Given the description of an element on the screen output the (x, y) to click on. 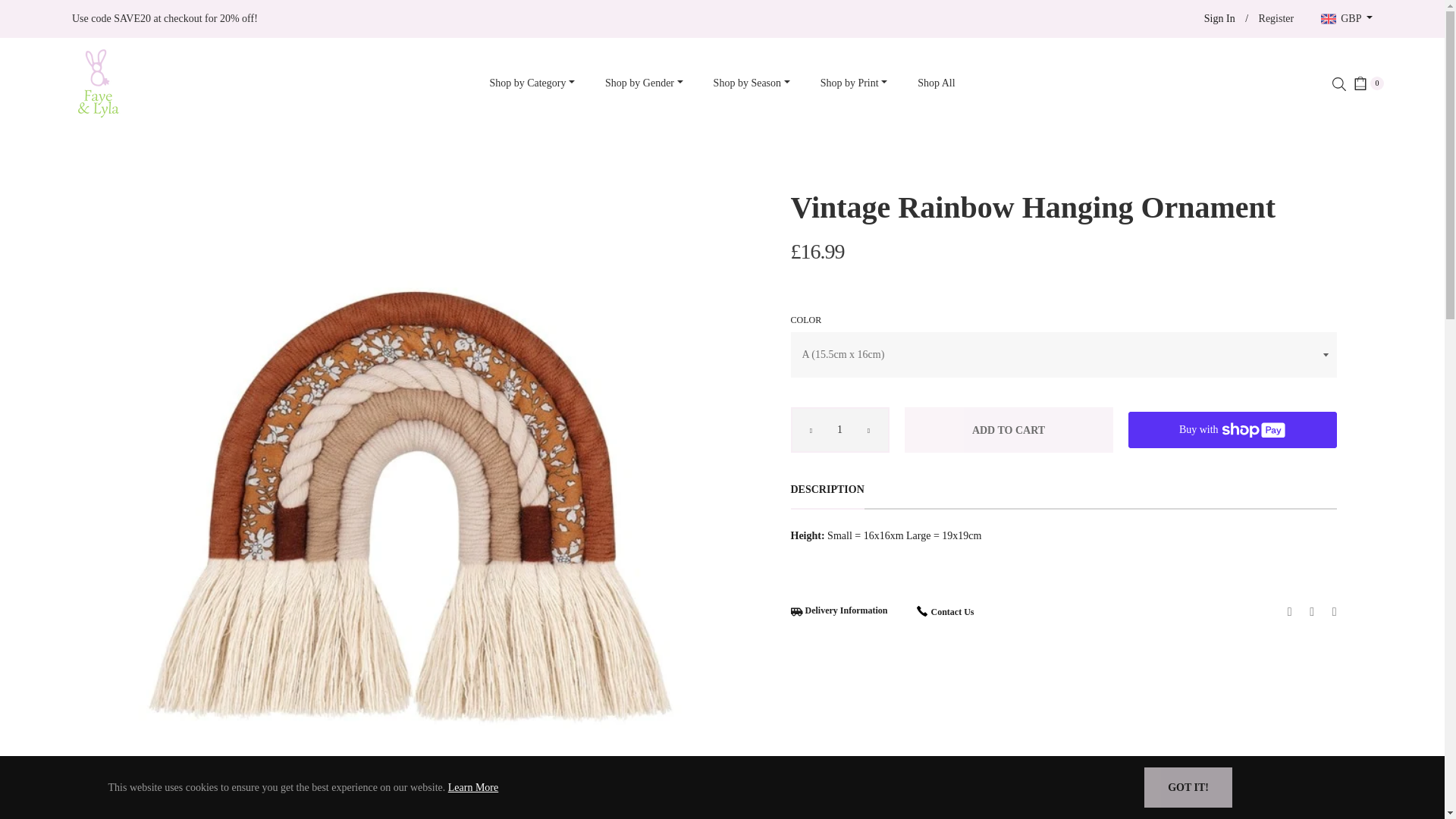
Register (1275, 18)
Shop by Gender (643, 82)
Currencies (1346, 19)
Shop by Print (853, 82)
Sign In (1219, 18)
Shop All (935, 82)
Shop by Category (531, 82)
1 (839, 429)
Shopping Cart (1369, 83)
Shop by Season (751, 82)
